Given the description of an element on the screen output the (x, y) to click on. 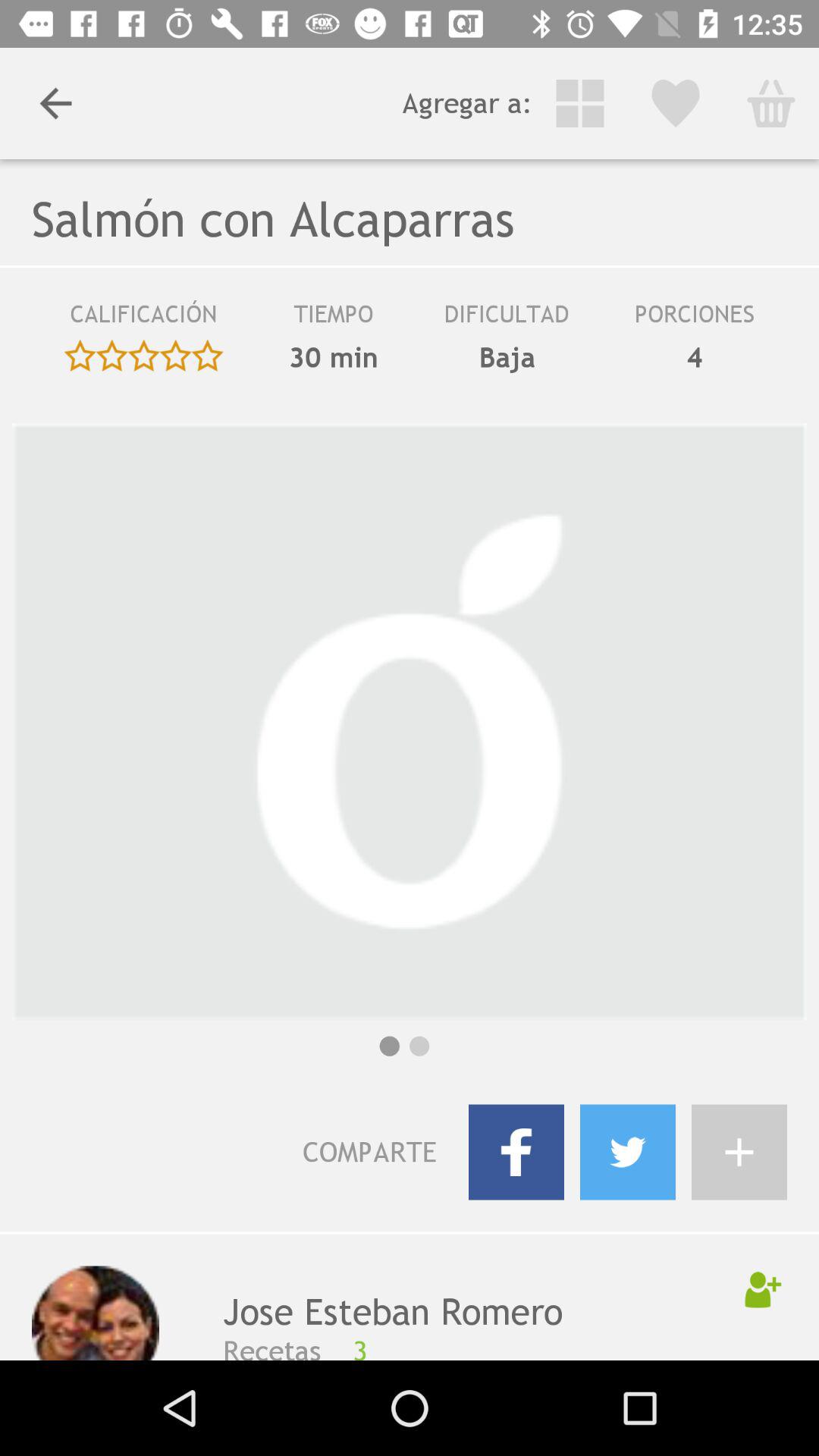
add an item (739, 1152)
